Given the description of an element on the screen output the (x, y) to click on. 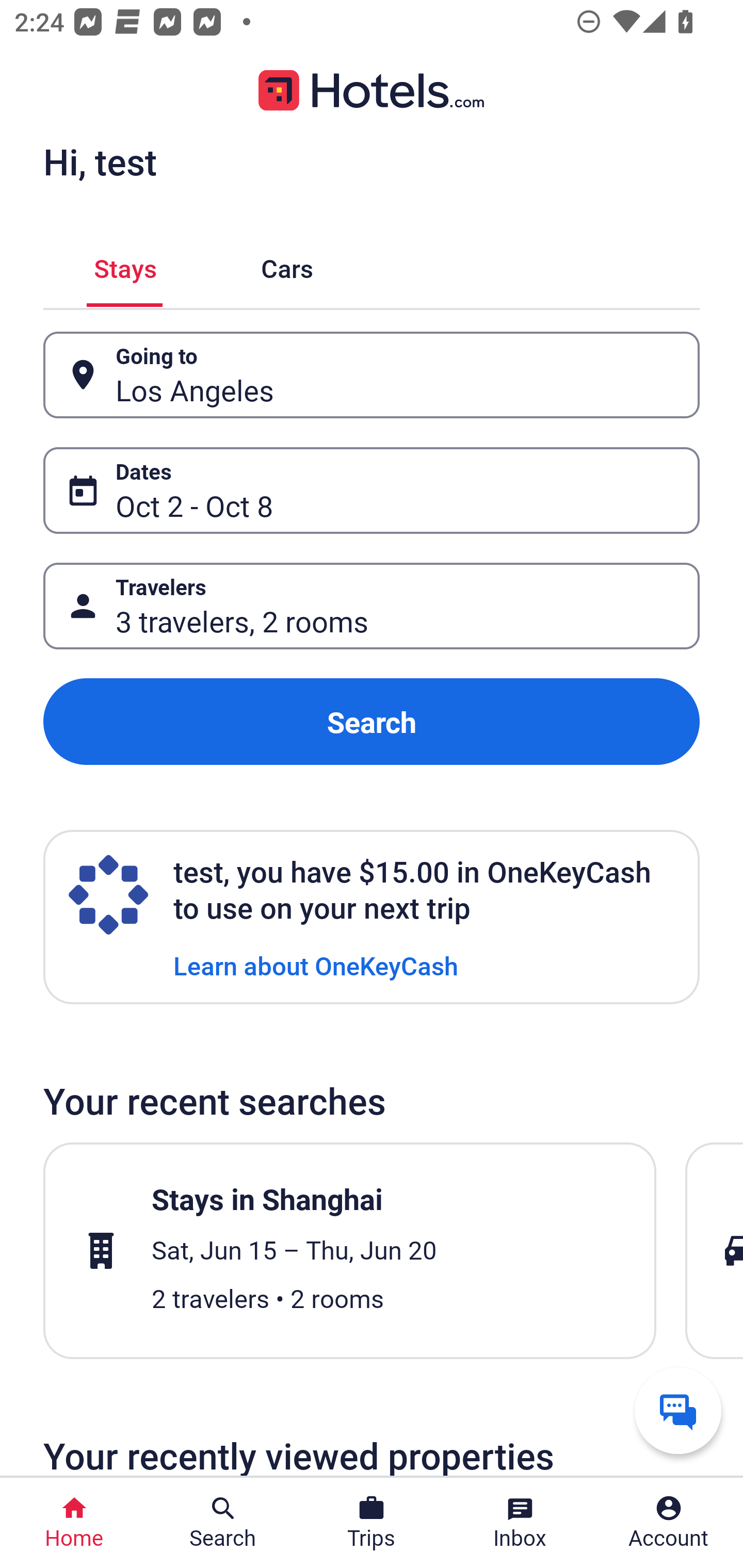
Hi, test (99, 161)
Cars (286, 265)
Going to Button Los Angeles (371, 375)
Dates Button Oct 2 - Oct 8 (371, 489)
Travelers Button 3 travelers, 2 rooms (371, 605)
Search (371, 721)
Learn about OneKeyCash Learn about OneKeyCash Link (315, 964)
Get help from a virtual agent (677, 1410)
Search Search Button (222, 1522)
Trips Trips Button (371, 1522)
Inbox Inbox Button (519, 1522)
Account Profile. Button (668, 1522)
